Given the description of an element on the screen output the (x, y) to click on. 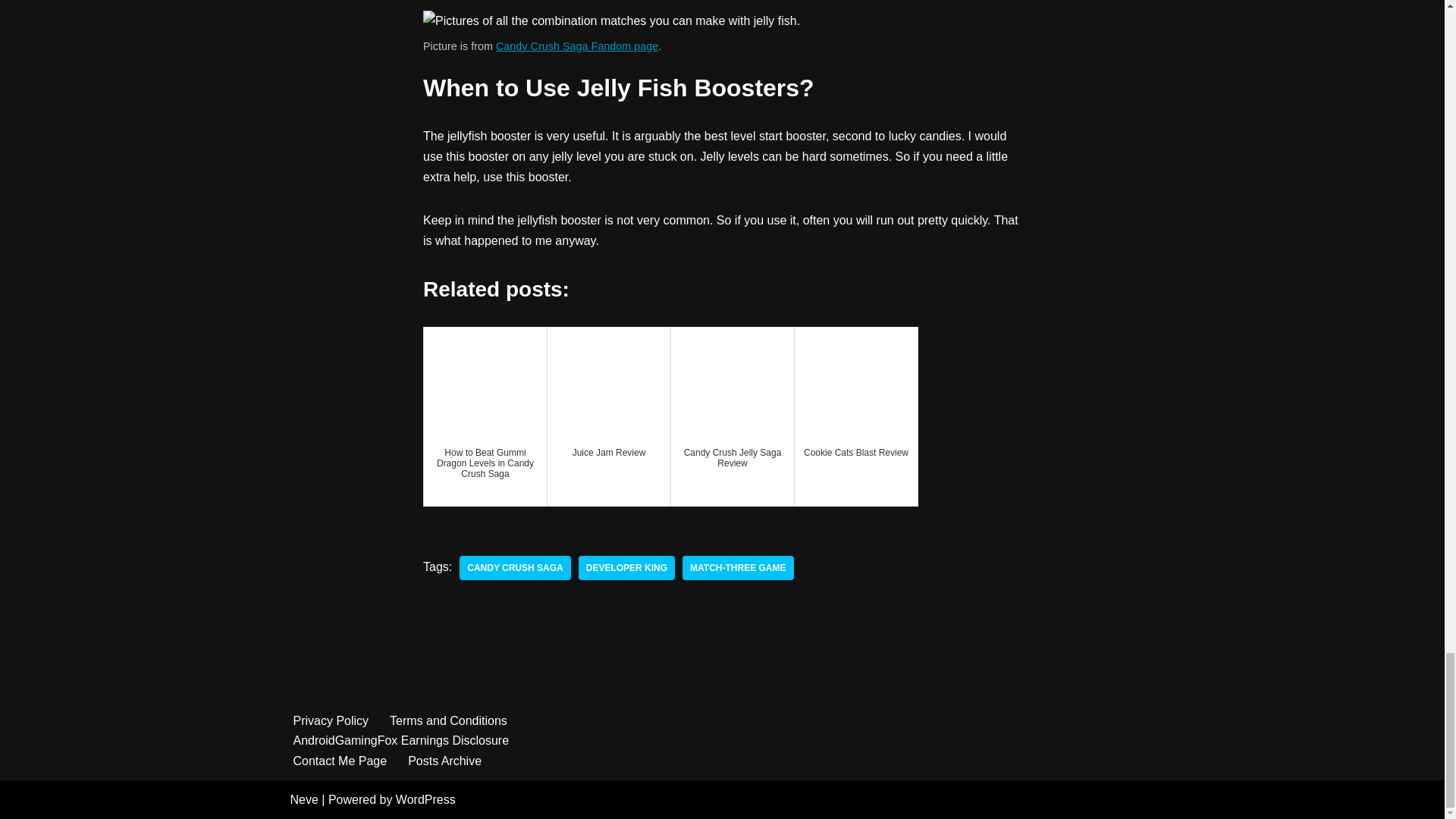
Candy Crush Saga Fandom page (577, 46)
